Given the description of an element on the screen output the (x, y) to click on. 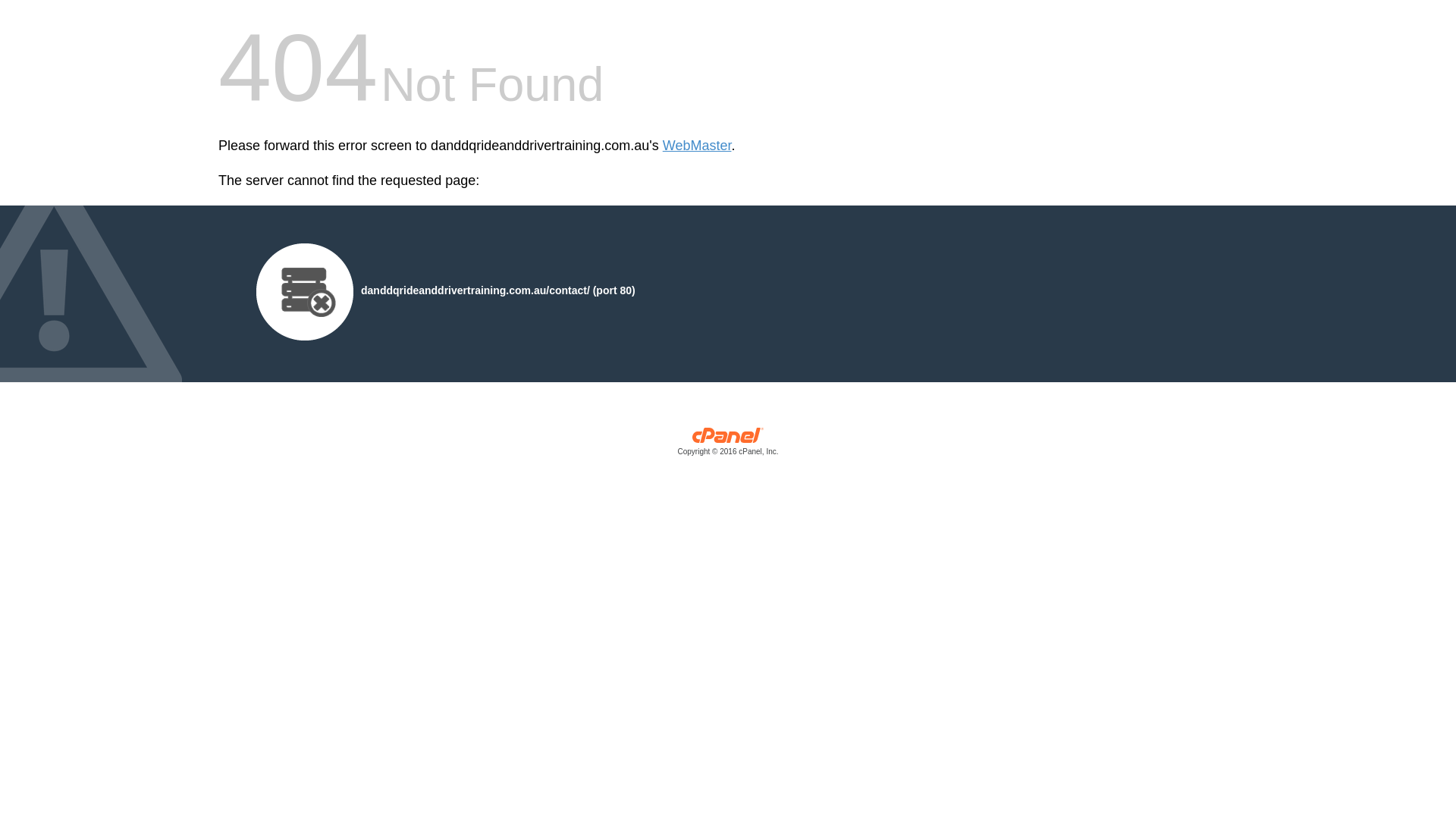
WebMaster Element type: text (696, 145)
